Given the description of an element on the screen output the (x, y) to click on. 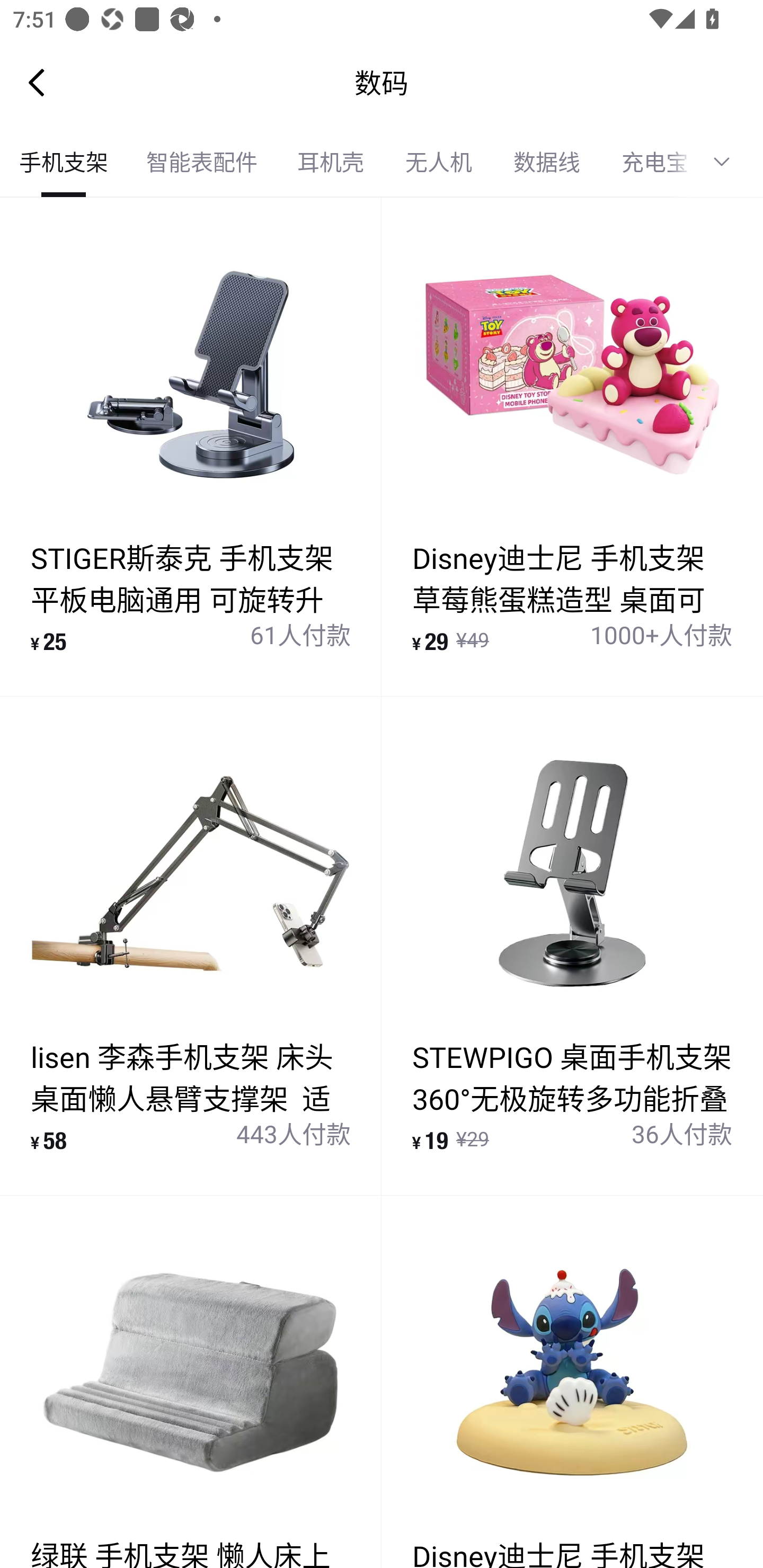
Navigate up (36, 82)
手机支架 (63, 162)
智能表配件 (201, 162)
耳机壳 (330, 162)
无人机 (438, 162)
数据线 (546, 162)
充电宝 (646, 162)
 (727, 162)
绿联 手机支架 懒人床上
桌面可折叠 (190, 1381)
